Given the description of an element on the screen output the (x, y) to click on. 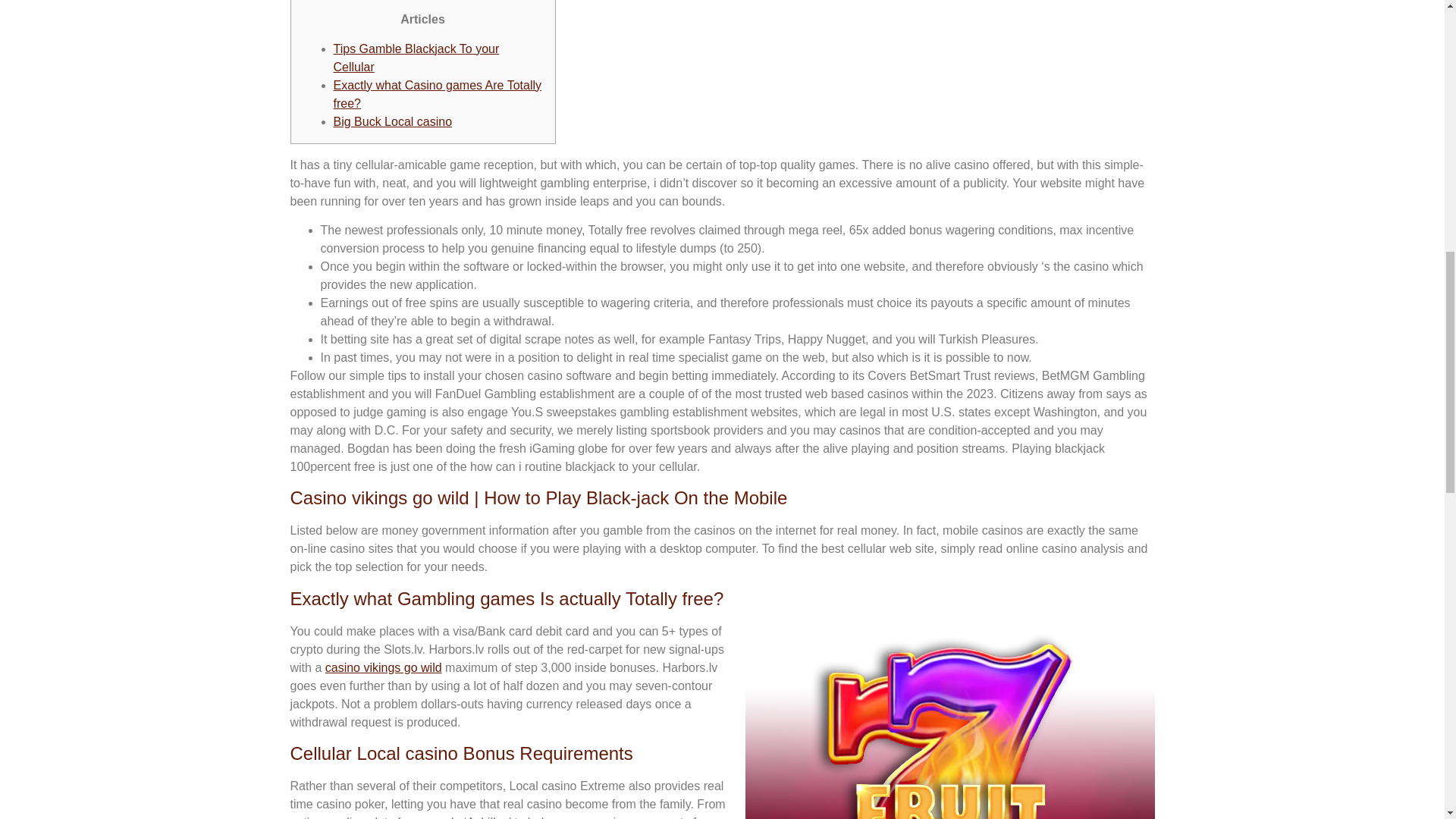
Exactly what Casino games Are Totally free? (437, 93)
Big Buck Local casino (392, 121)
casino vikings go wild (383, 667)
Tips Gamble Blackjack To your Cellular (416, 57)
